Given the description of an element on the screen output the (x, y) to click on. 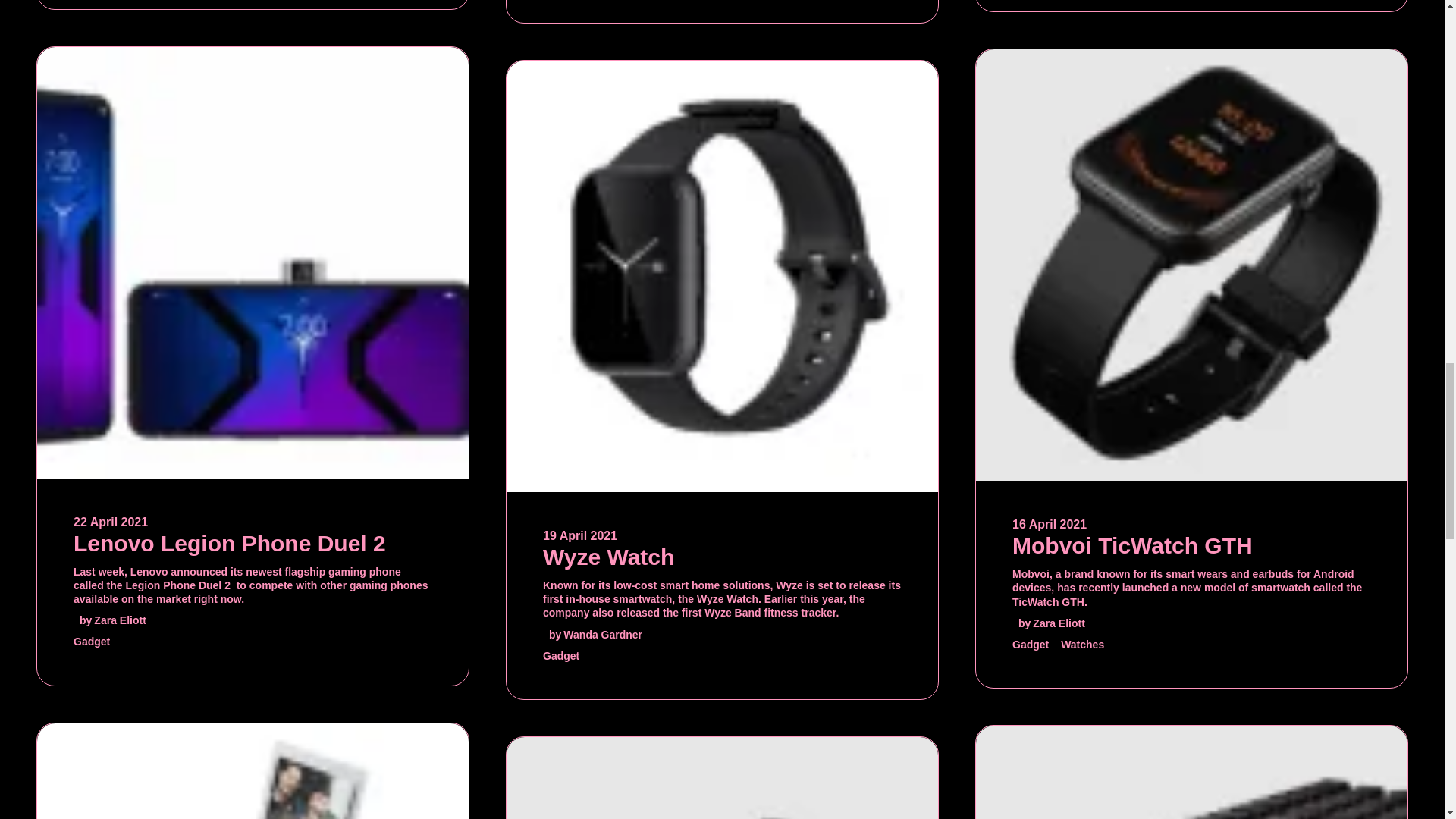
Lenovo Legion Phone Duel 2 (229, 543)
Gadget (92, 641)
Wyze Watch (608, 556)
Zara Eliott (119, 620)
Gadget (561, 655)
Wanda Gardner (602, 634)
